Given the description of an element on the screen output the (x, y) to click on. 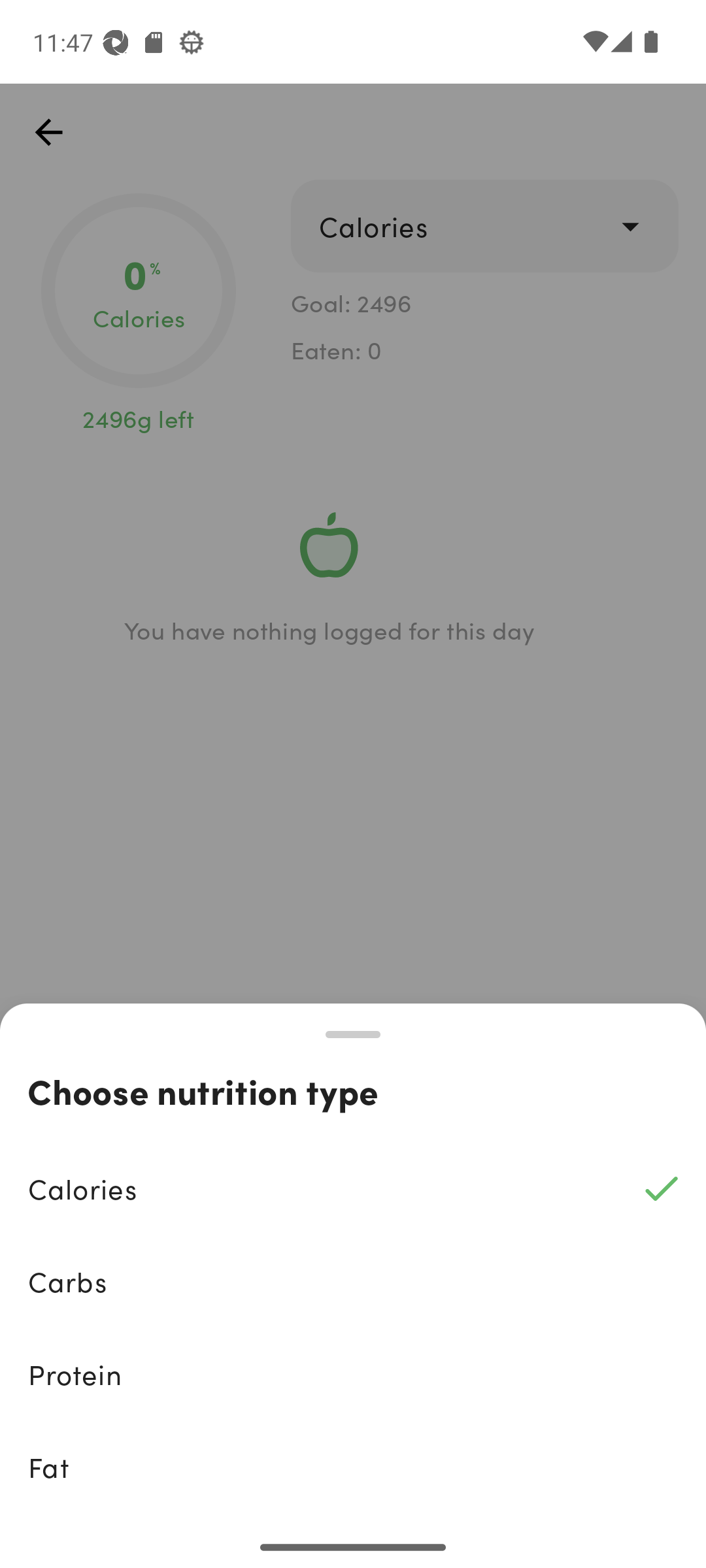
bottom_sheet_option Carbs bottom_sheet_option_text (353, 1281)
bottom_sheet_option Fat bottom_sheet_option_text (353, 1466)
